Given the description of an element on the screen output the (x, y) to click on. 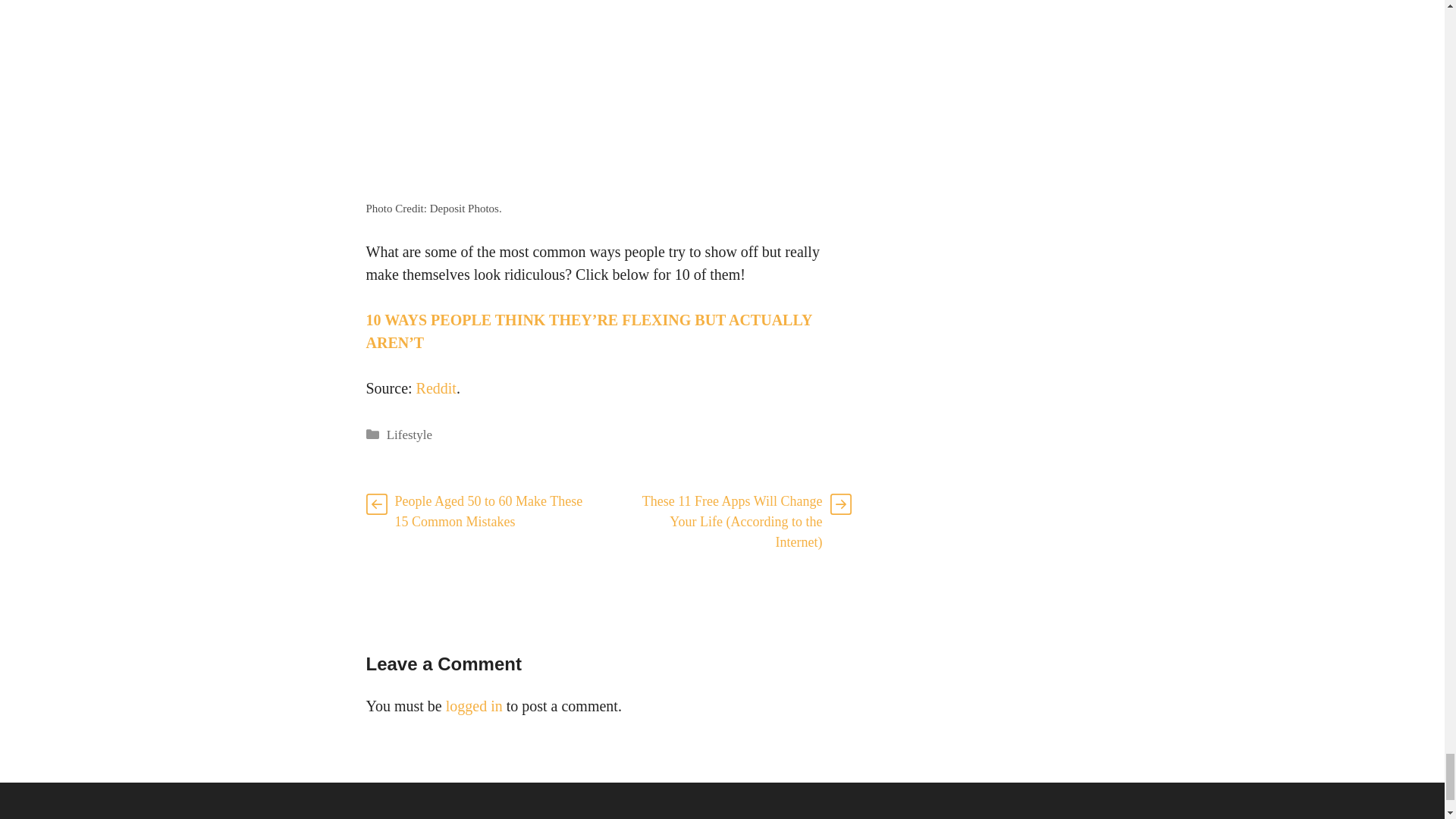
logged in (473, 705)
Reddit (436, 387)
People Aged 50 to 60 Make These 15 Common Mistakes (488, 511)
Lifestyle (409, 434)
